Given the description of an element on the screen output the (x, y) to click on. 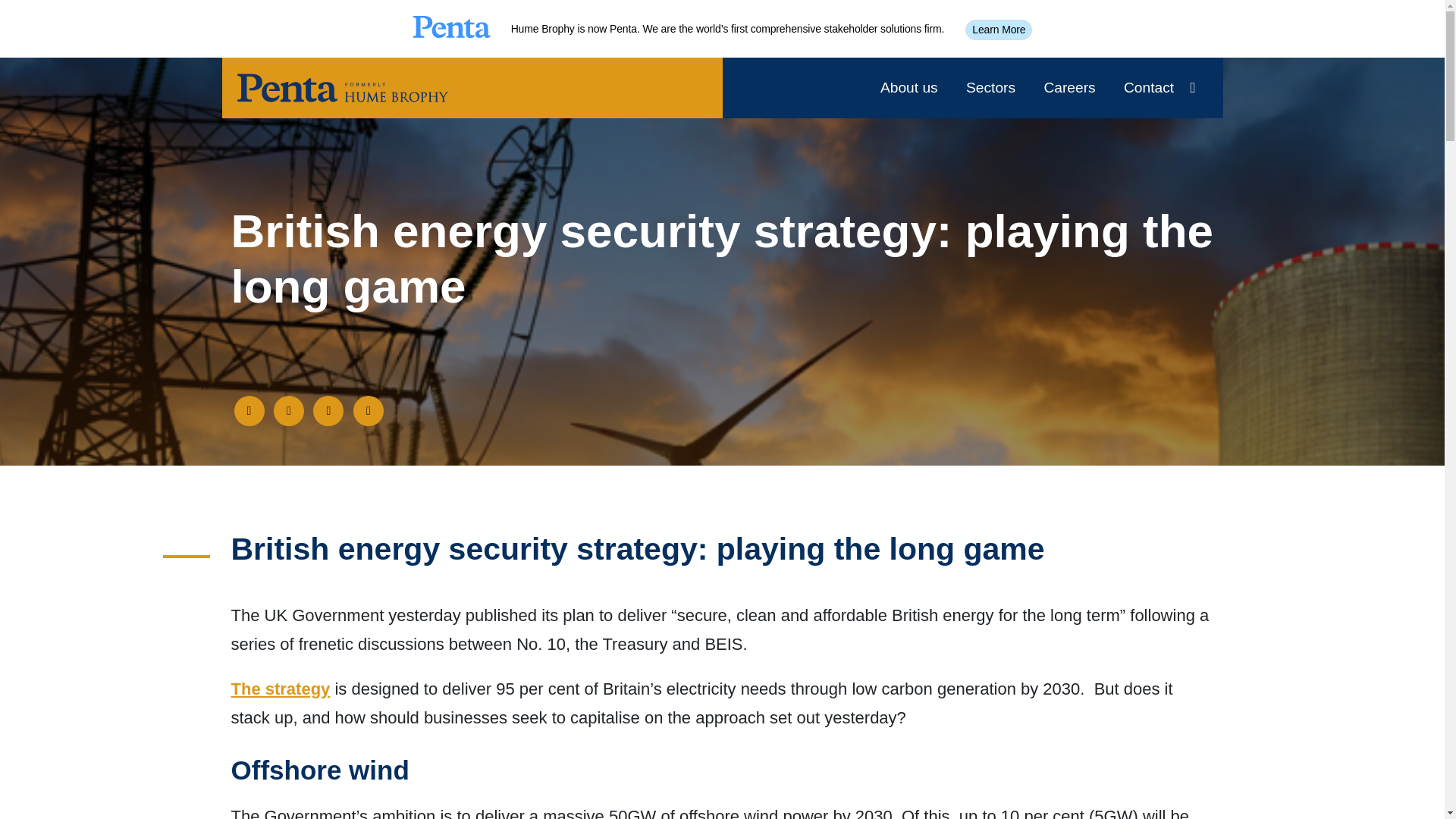
About us (908, 87)
Careers (1068, 87)
Sectors (990, 87)
Contact (1148, 87)
Learn More (997, 29)
The strategy (280, 688)
